Given the description of an element on the screen output the (x, y) to click on. 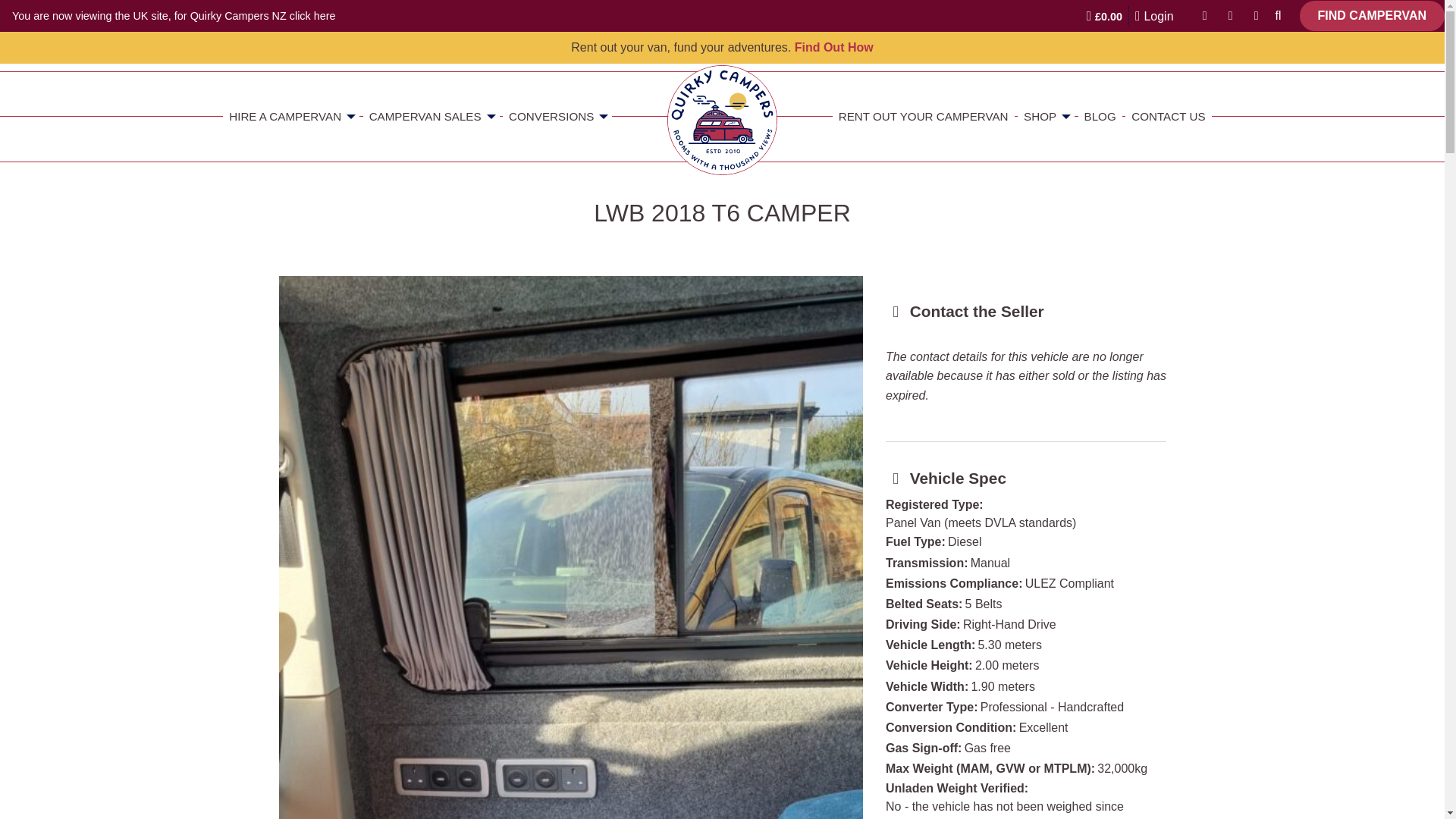
Find Out How (833, 47)
Login (1154, 15)
Quirky Campers homepage (721, 119)
CONVERSIONS (556, 115)
CAMPERVAN SALES (430, 115)
SHOP (1045, 115)
RENT OUT YOUR CAMPERVAN (923, 115)
HIRE A CAMPERVAN (290, 115)
